Given the description of an element on the screen output the (x, y) to click on. 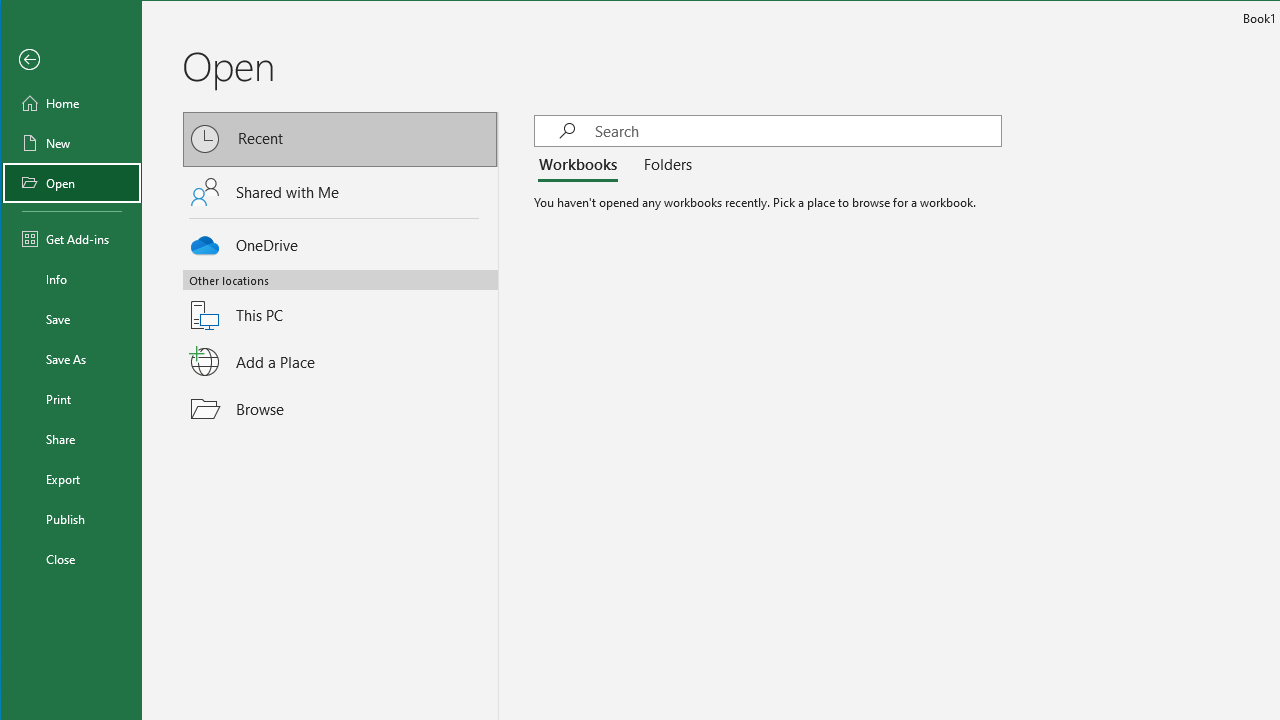
Recent (341, 139)
OneDrive (341, 241)
Save As (72, 358)
Folders (663, 165)
Info (72, 278)
This PC (341, 303)
Print (72, 398)
Add a Place (341, 361)
New (72, 142)
Workbooks (581, 165)
Get Add-ins (72, 238)
